Given the description of an element on the screen output the (x, y) to click on. 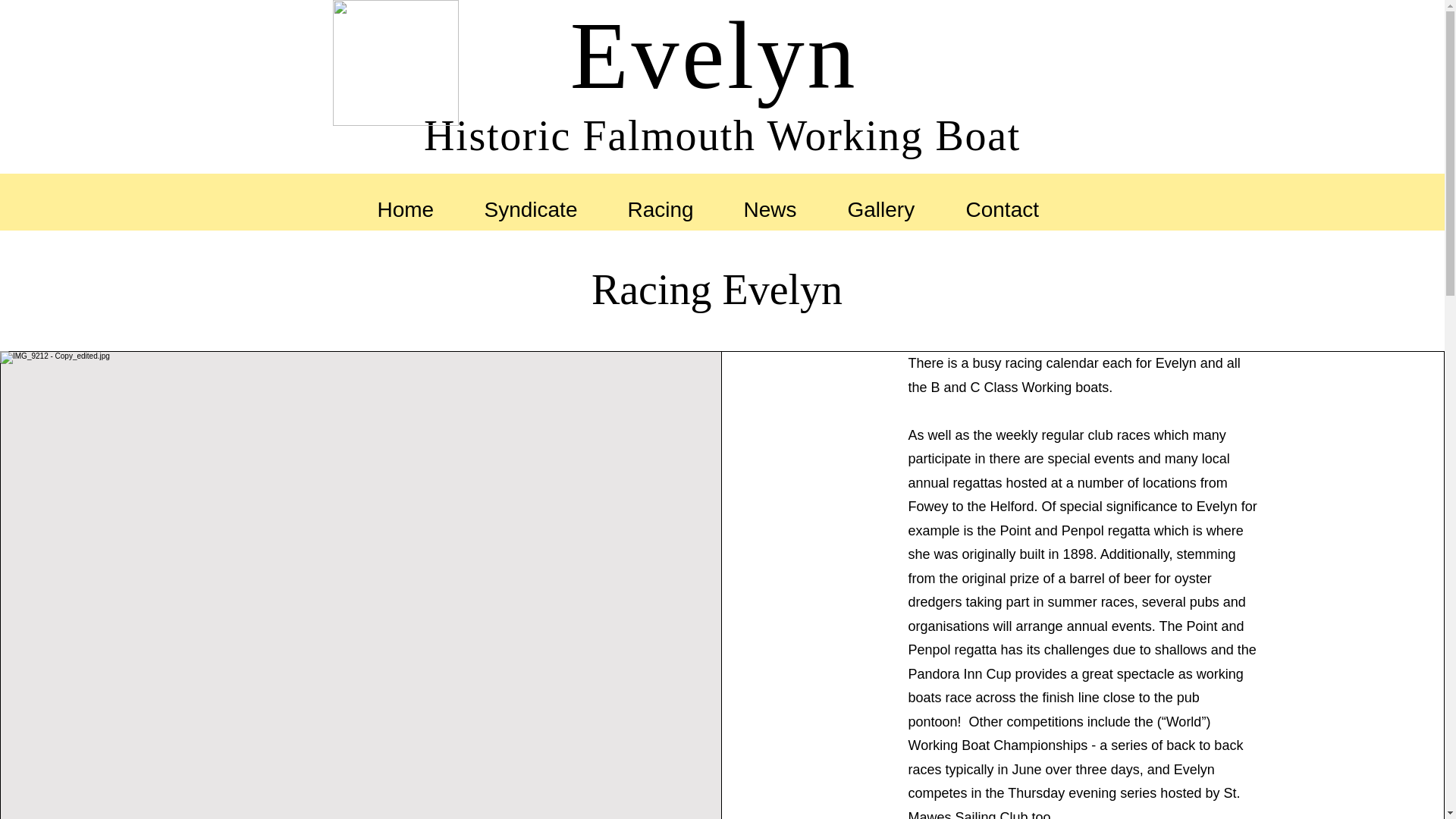
Gallery (894, 205)
Home (418, 205)
News (783, 205)
Contact (1015, 205)
Topsail.jpg (394, 63)
Syndicate (544, 205)
Racing (673, 205)
